Given the description of an element on the screen output the (x, y) to click on. 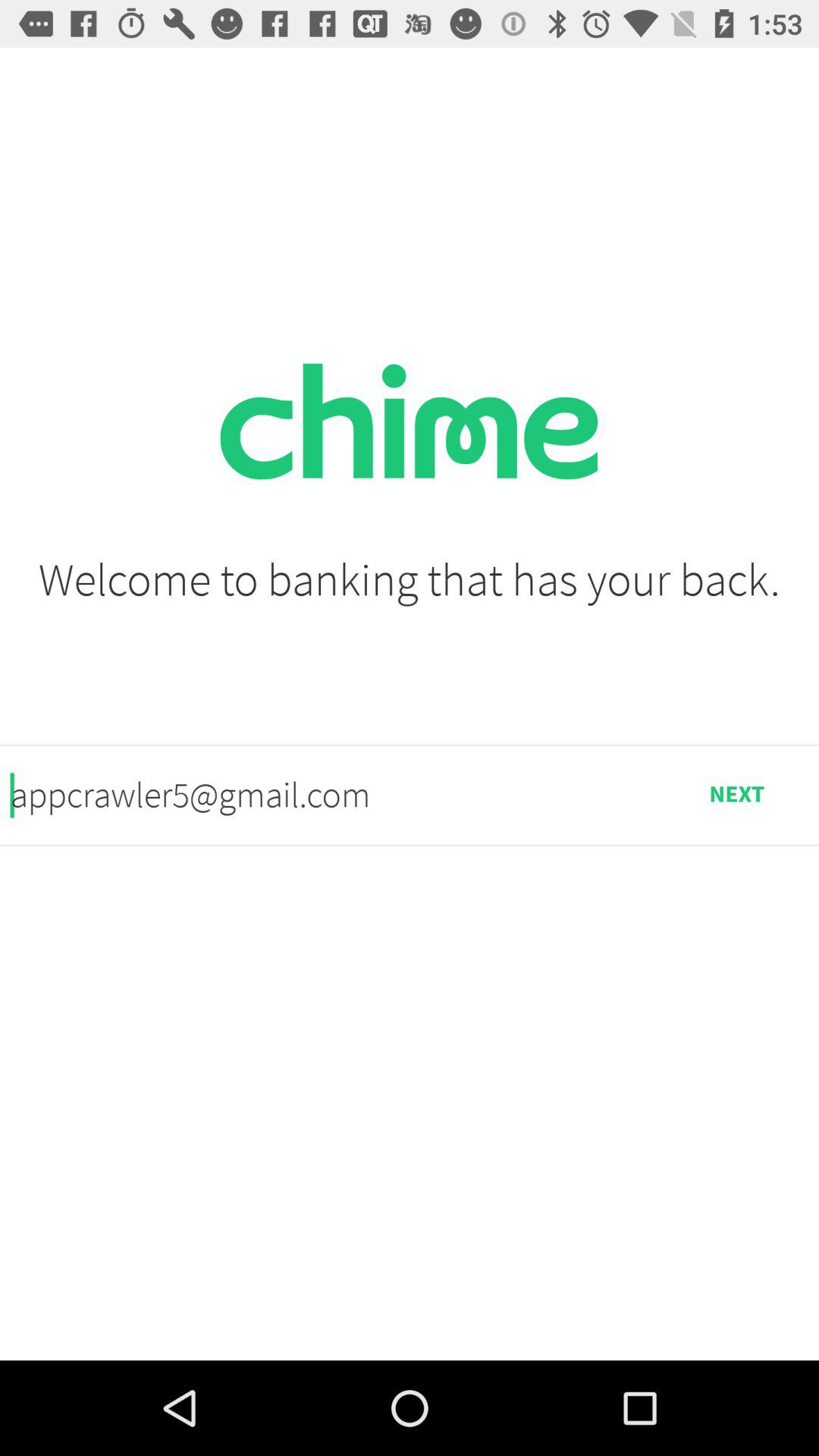
flip to the appcrawler5@gmail.com icon (332, 794)
